Given the description of an element on the screen output the (x, y) to click on. 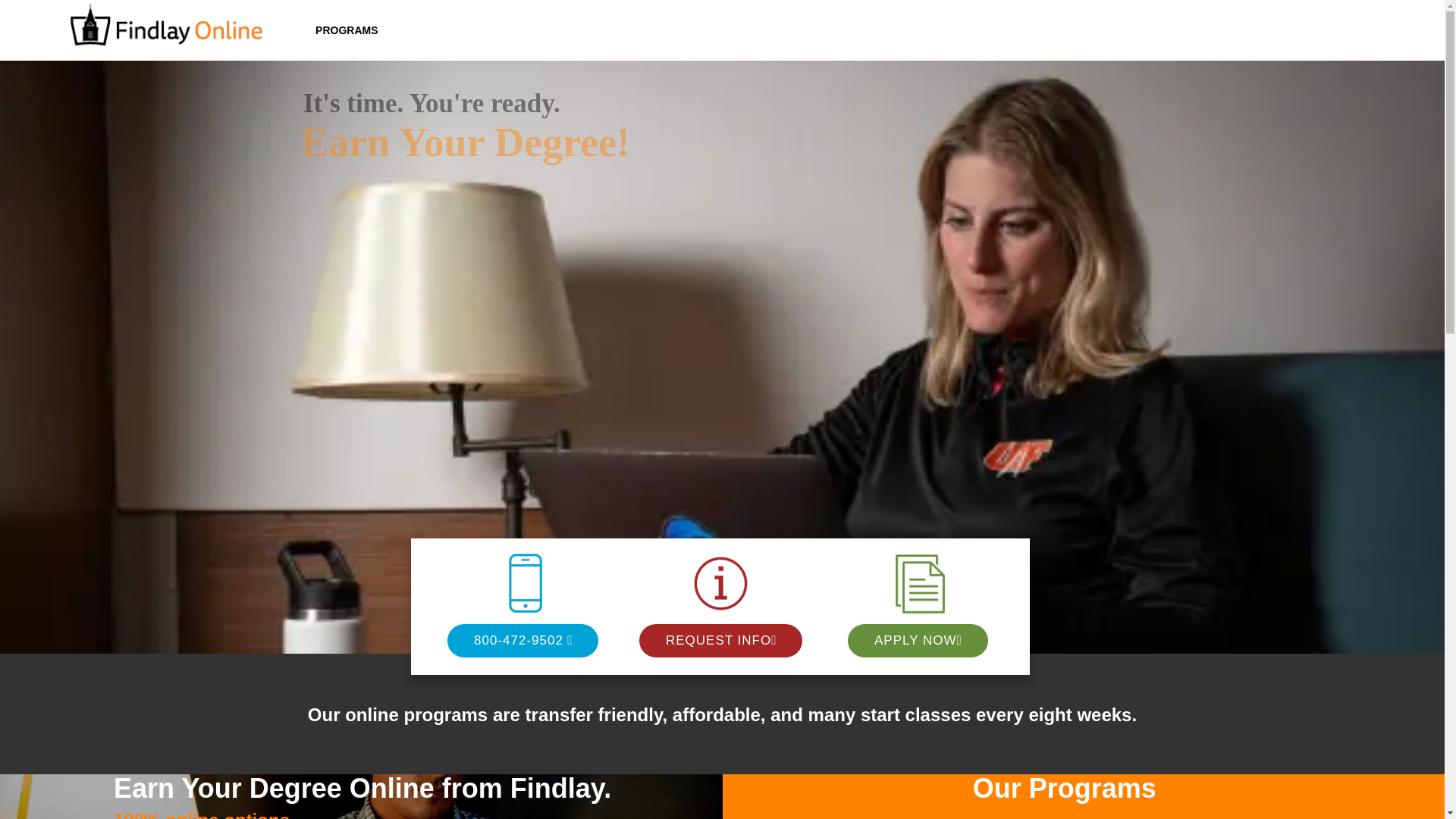
REQUEST INFO (718, 640)
800-472-9502 (518, 640)
APPLY NOW (915, 640)
PROGRAMS (346, 30)
